Given the description of an element on the screen output the (x, y) to click on. 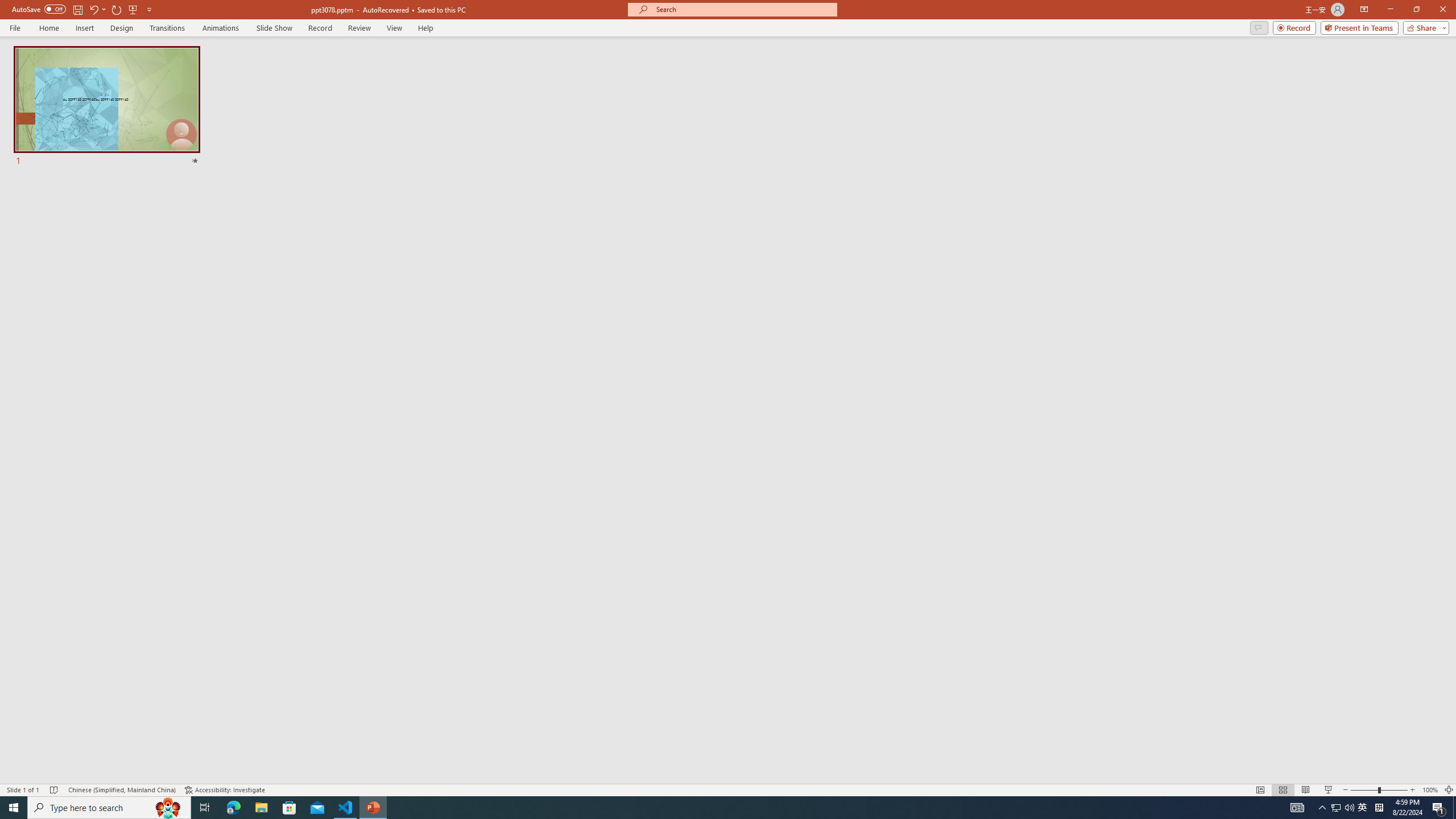
Zoom 100% (1430, 790)
